Given the description of an element on the screen output the (x, y) to click on. 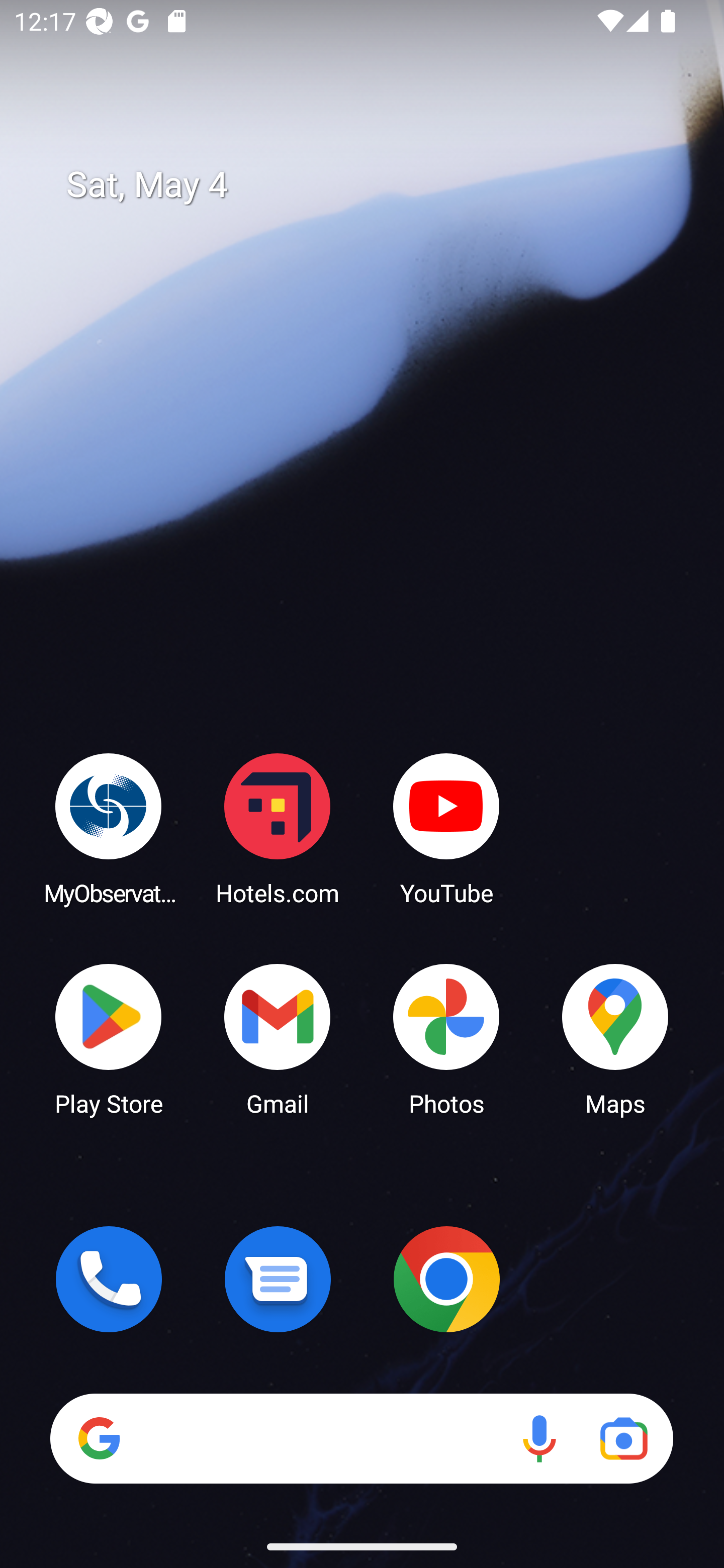
Sat, May 4 (375, 184)
MyObservatory (108, 828)
Hotels.com (277, 828)
YouTube (445, 828)
Play Store (108, 1038)
Gmail (277, 1038)
Photos (445, 1038)
Maps (615, 1038)
Phone (108, 1279)
Messages (277, 1279)
Chrome (446, 1279)
Search Voice search Google Lens (361, 1438)
Voice search (539, 1438)
Google Lens (623, 1438)
